Given the description of an element on the screen output the (x, y) to click on. 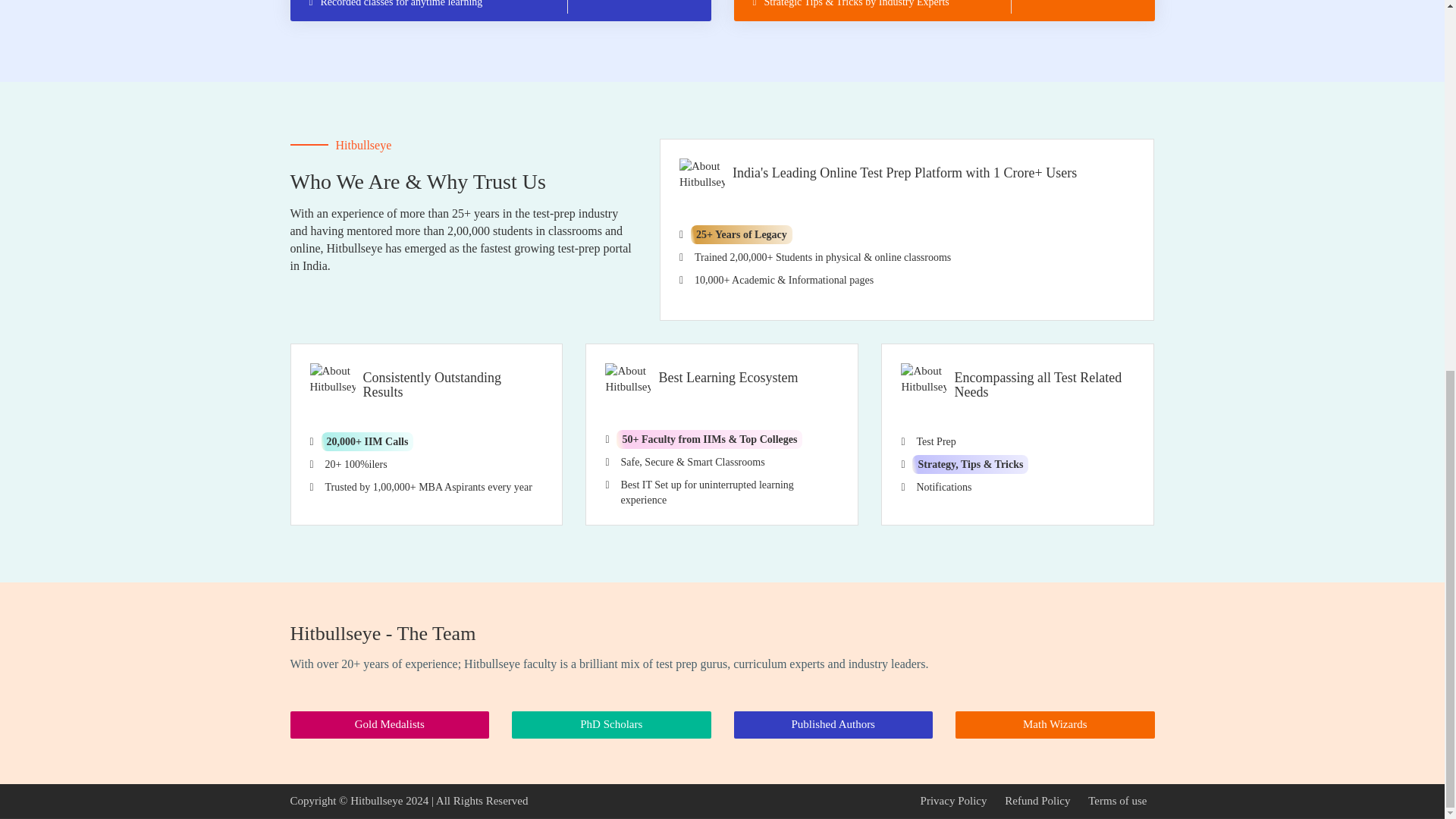
Refund Policy (1037, 800)
Privacy Policy (953, 800)
Terms of use (1117, 800)
